Given the description of an element on the screen output the (x, y) to click on. 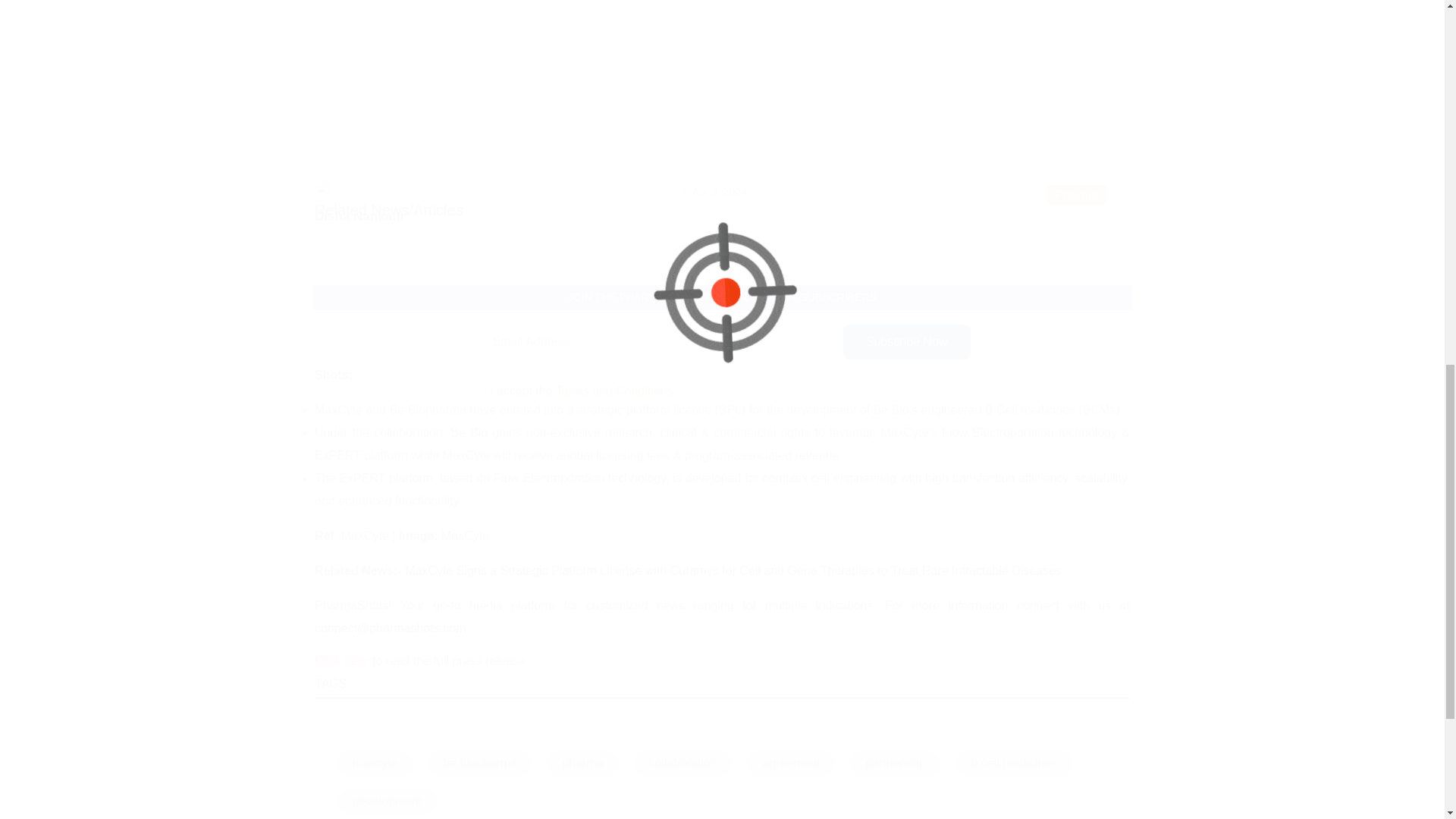
development (387, 801)
partnership (895, 763)
pharma (582, 763)
collaboration (682, 763)
be biopharma (480, 763)
Disha Nankani (358, 216)
agreement (790, 763)
Click here (341, 660)
maxcyte (375, 763)
